Given the description of an element on the screen output the (x, y) to click on. 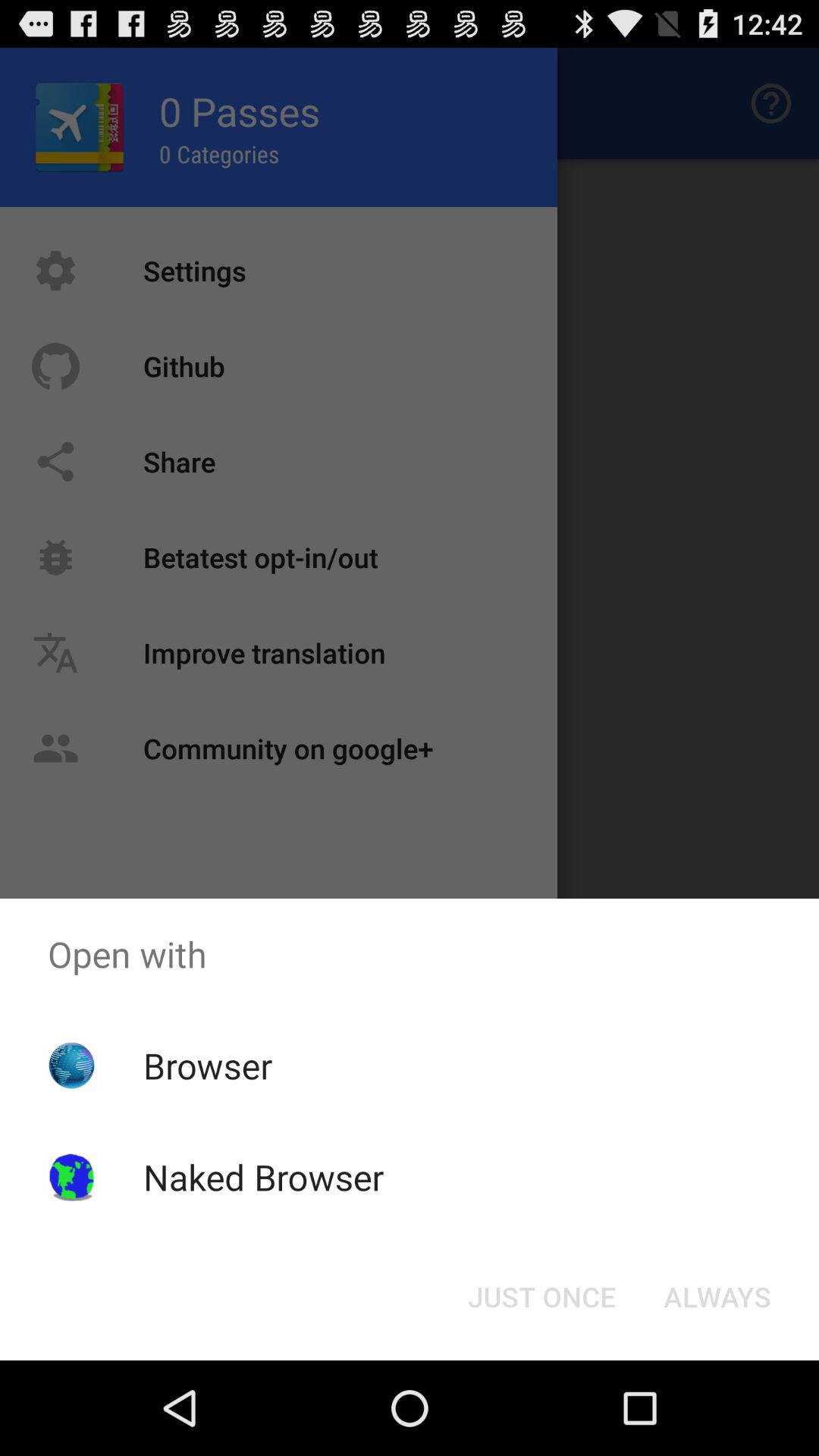
click the just once item (541, 1296)
